Given the description of an element on the screen output the (x, y) to click on. 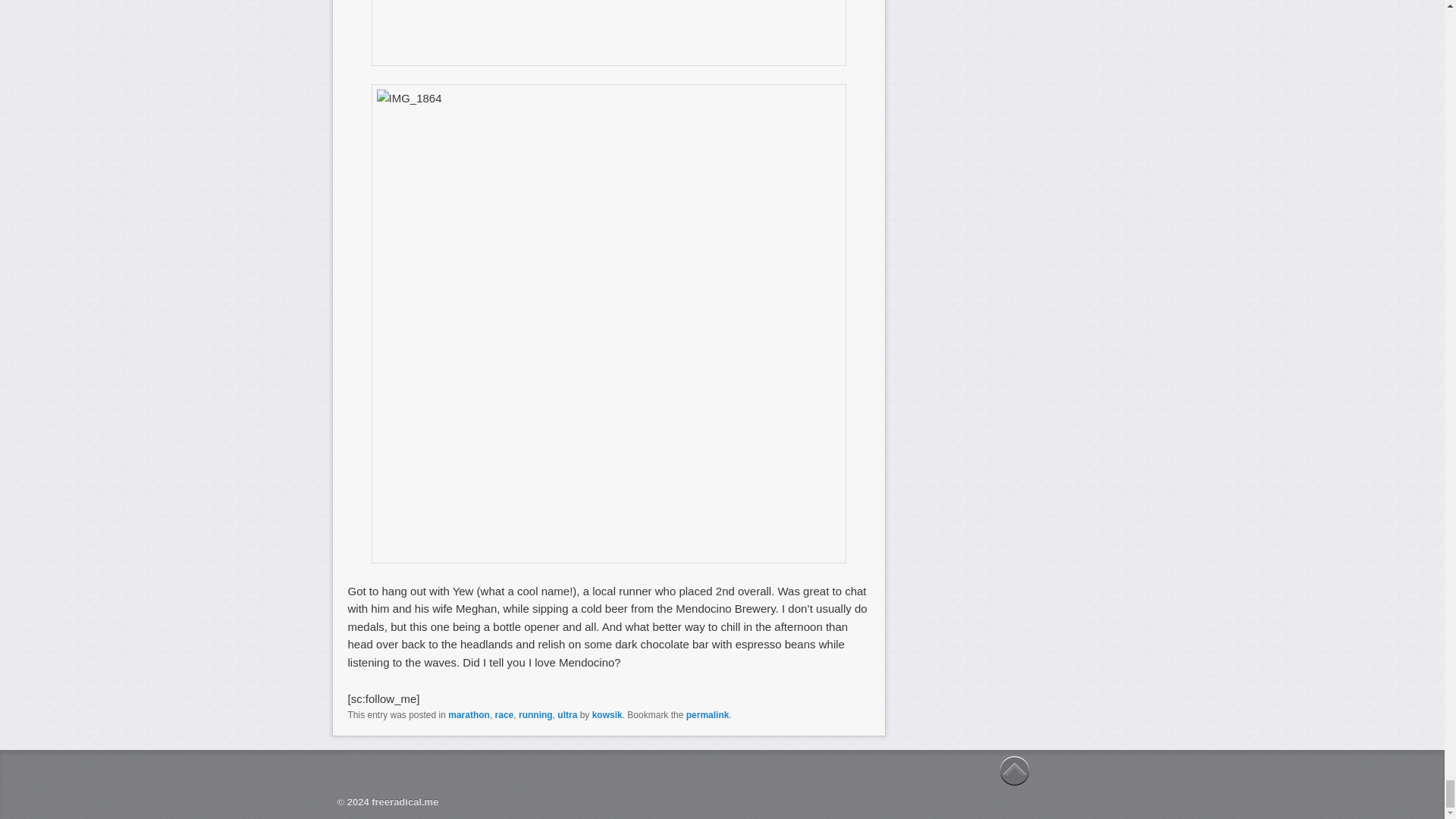
running (535, 715)
ultra (566, 715)
kowsik (607, 715)
marathon (468, 715)
permalink (707, 715)
race (504, 715)
